Given the description of an element on the screen output the (x, y) to click on. 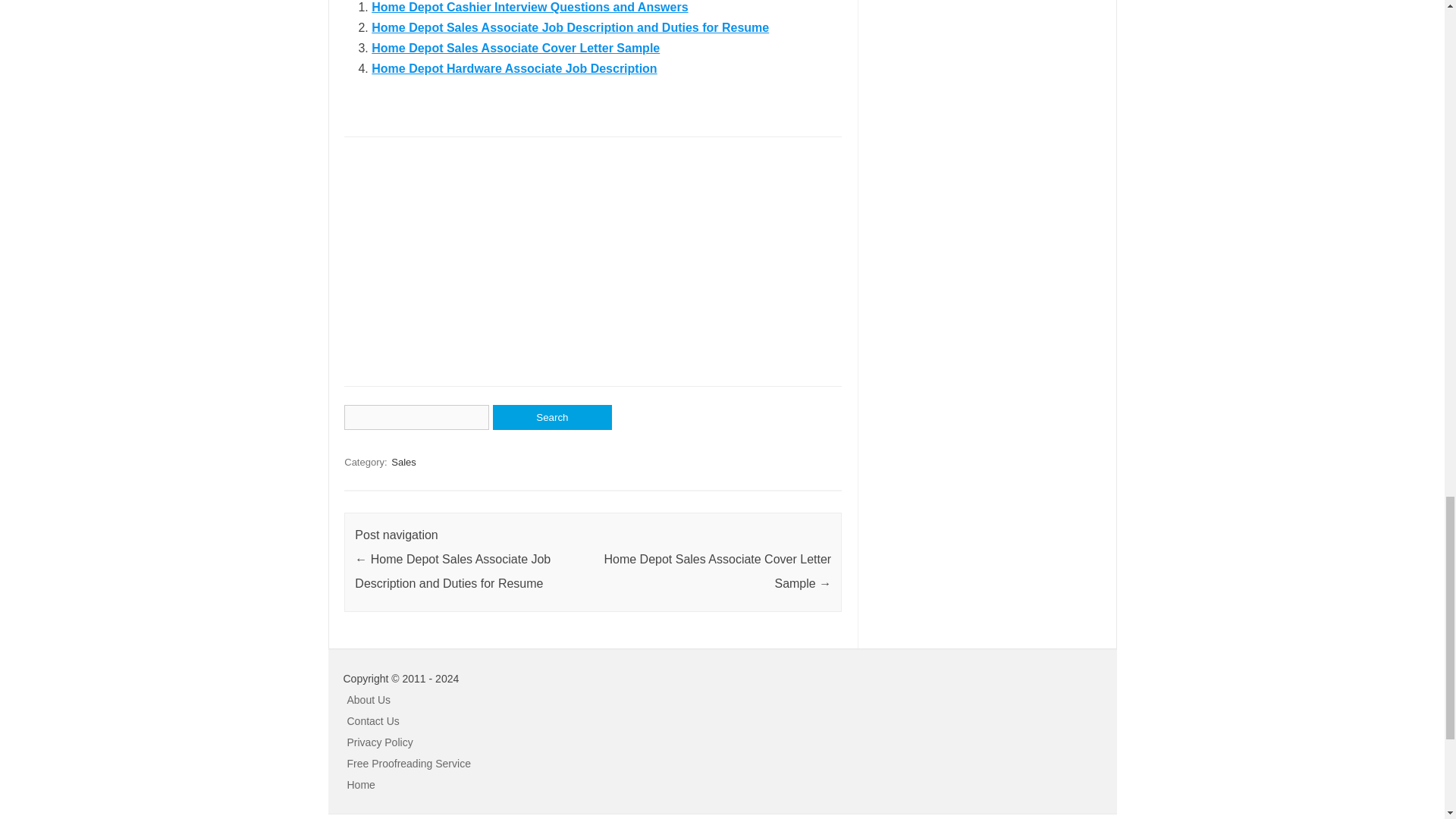
Home Depot Hardware Associate Job Description (513, 68)
Home Depot Cashier Interview Questions and Answers (529, 6)
Contact Us (372, 720)
Free Proofreading Service (408, 763)
Home Depot Sales Associate Cover Letter Sample (515, 47)
Privacy Policy (380, 742)
Home Depot Cashier Interview Questions and Answers (529, 6)
Home (361, 784)
